Given the description of an element on the screen output the (x, y) to click on. 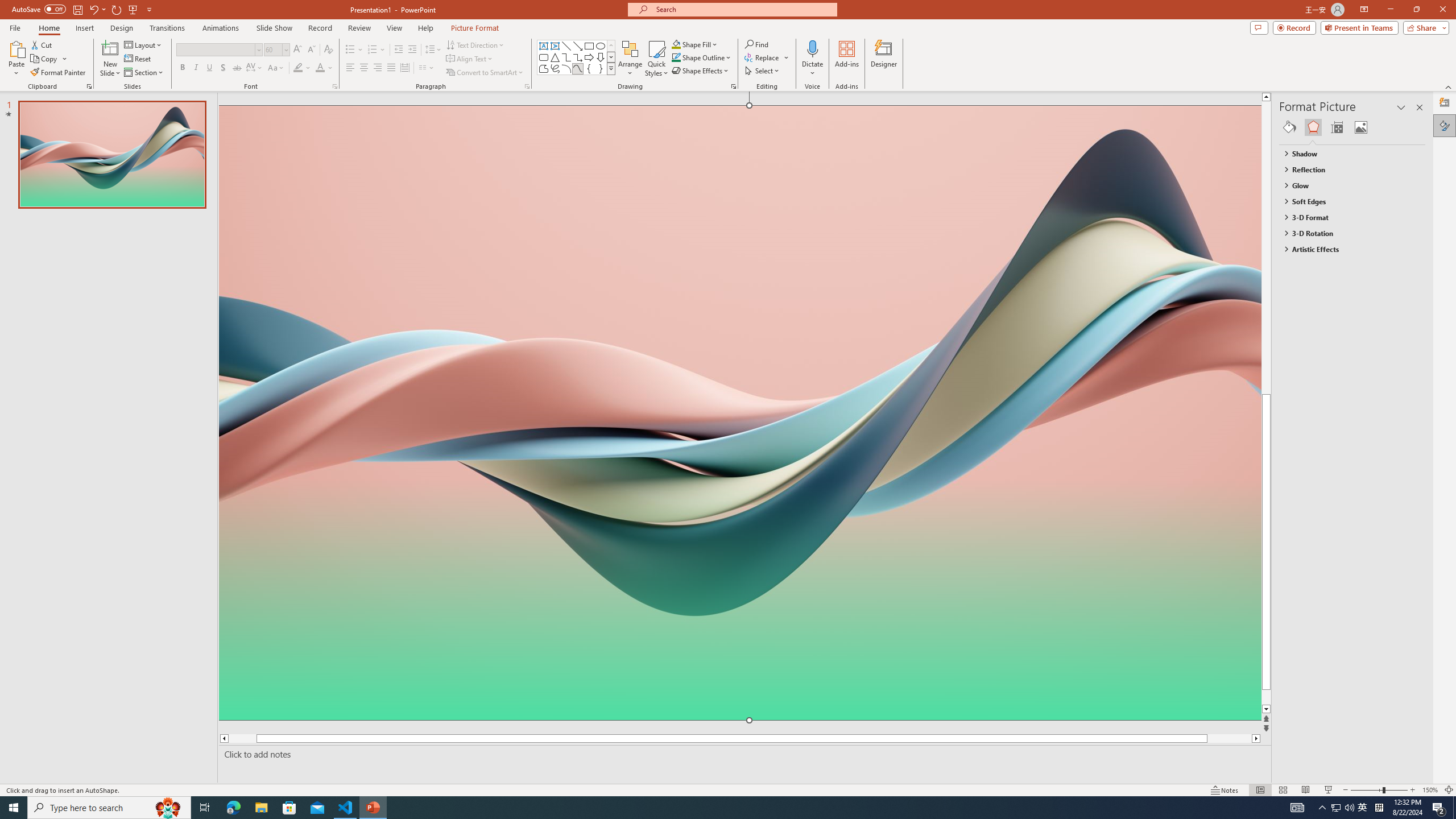
Artistic Effects (1347, 248)
